Given the description of an element on the screen output the (x, y) to click on. 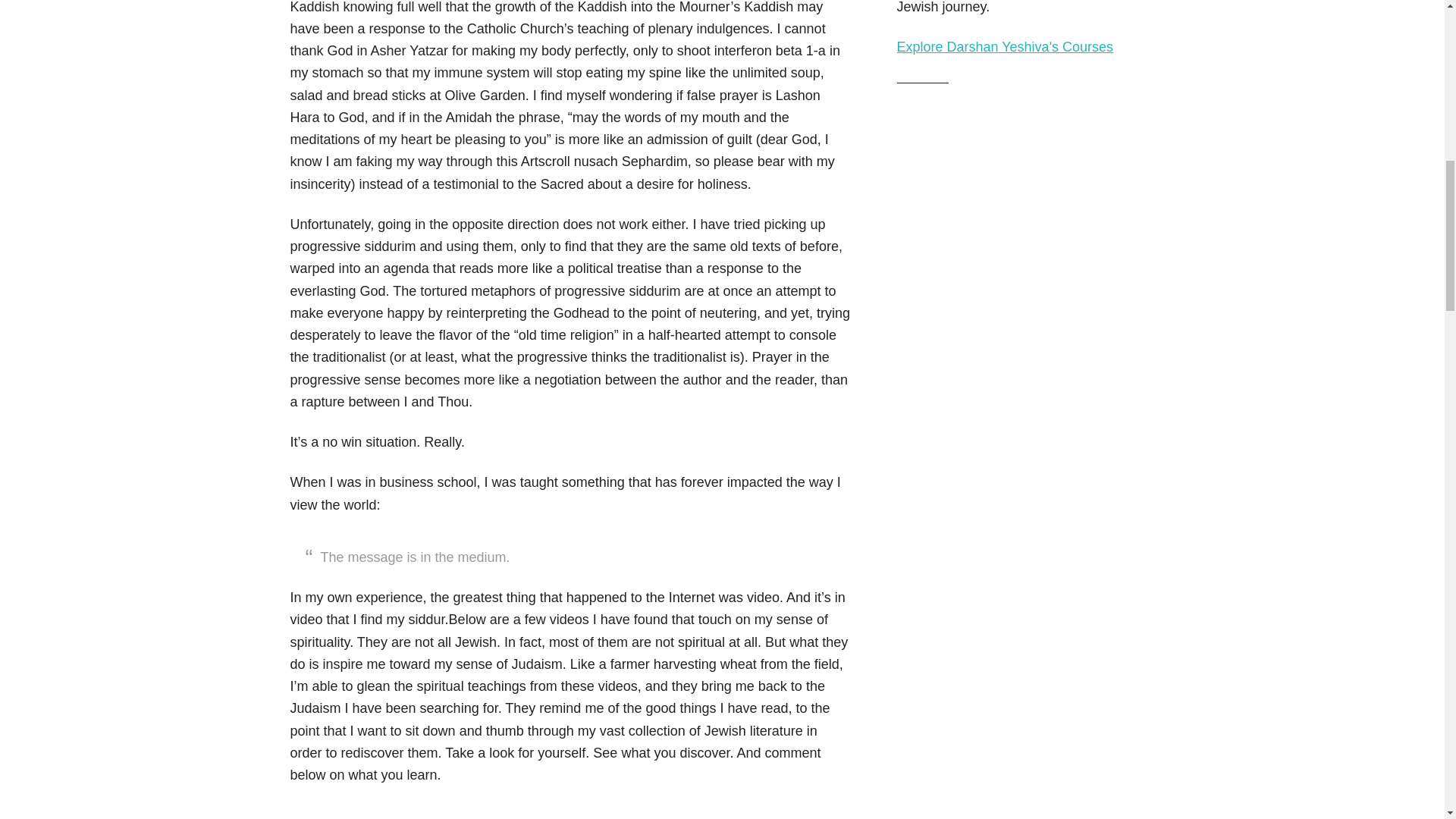
Explore Darshan Yeshiva's Courses (1004, 46)
